Given the description of an element on the screen output the (x, y) to click on. 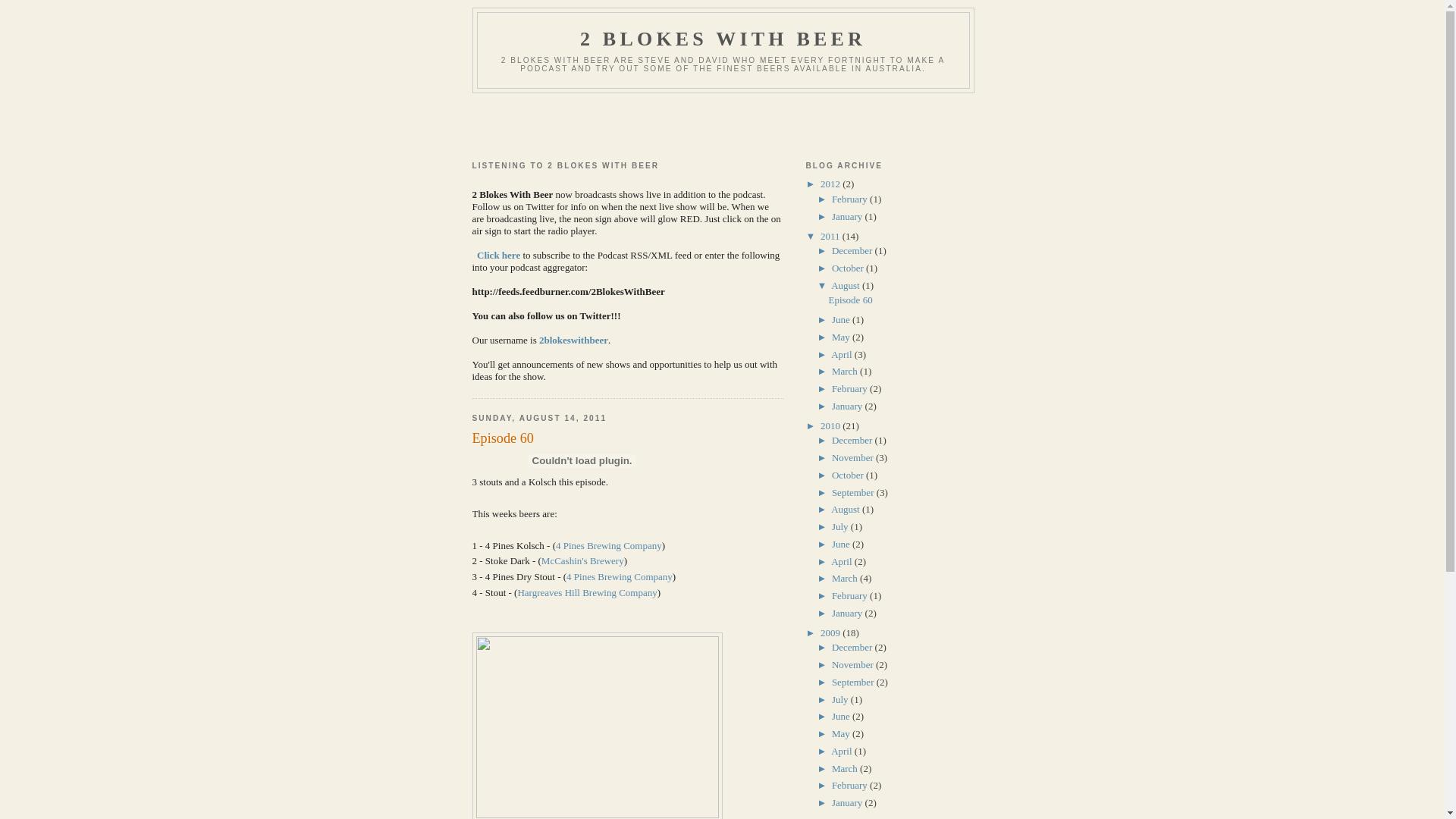
April Element type: text (842, 750)
February Element type: text (850, 595)
Episode 60 Element type: text (850, 299)
February Element type: text (850, 784)
June Element type: text (841, 543)
July Element type: text (840, 526)
February Element type: text (850, 198)
November Element type: text (853, 457)
4 Pines Brewing Company Element type: text (608, 545)
2012 Element type: text (831, 183)
2011 Element type: text (831, 235)
August Element type: text (846, 285)
Click here Element type: text (497, 254)
September Element type: text (853, 492)
April Element type: text (842, 561)
Hargreaves Hill Brewing Company Element type: text (586, 592)
December Element type: text (853, 646)
2009 Element type: text (831, 632)
McCashin's Brewery Element type: text (582, 560)
Advertisement Element type: hover (721, 122)
January Element type: text (848, 612)
October Element type: text (848, 267)
June Element type: text (841, 319)
December Element type: text (853, 250)
May Element type: text (841, 733)
April Element type: text (842, 354)
March Element type: text (845, 768)
2blokeswithbeer Element type: text (573, 339)
July Element type: text (840, 699)
June Element type: text (841, 715)
May Element type: text (841, 336)
November Element type: text (853, 664)
October Element type: text (848, 474)
August Element type: text (846, 508)
2010 Element type: text (831, 425)
2 BLOKES WITH BEER Element type: text (723, 39)
September Element type: text (853, 681)
January Element type: text (848, 405)
January Element type: text (848, 802)
December Element type: text (853, 439)
March Element type: text (845, 370)
January Element type: text (848, 216)
4 Pines Brewing Company Element type: text (619, 576)
February Element type: text (850, 388)
Episode 60 Element type: text (626, 438)
March Element type: text (845, 577)
